Given the description of an element on the screen output the (x, y) to click on. 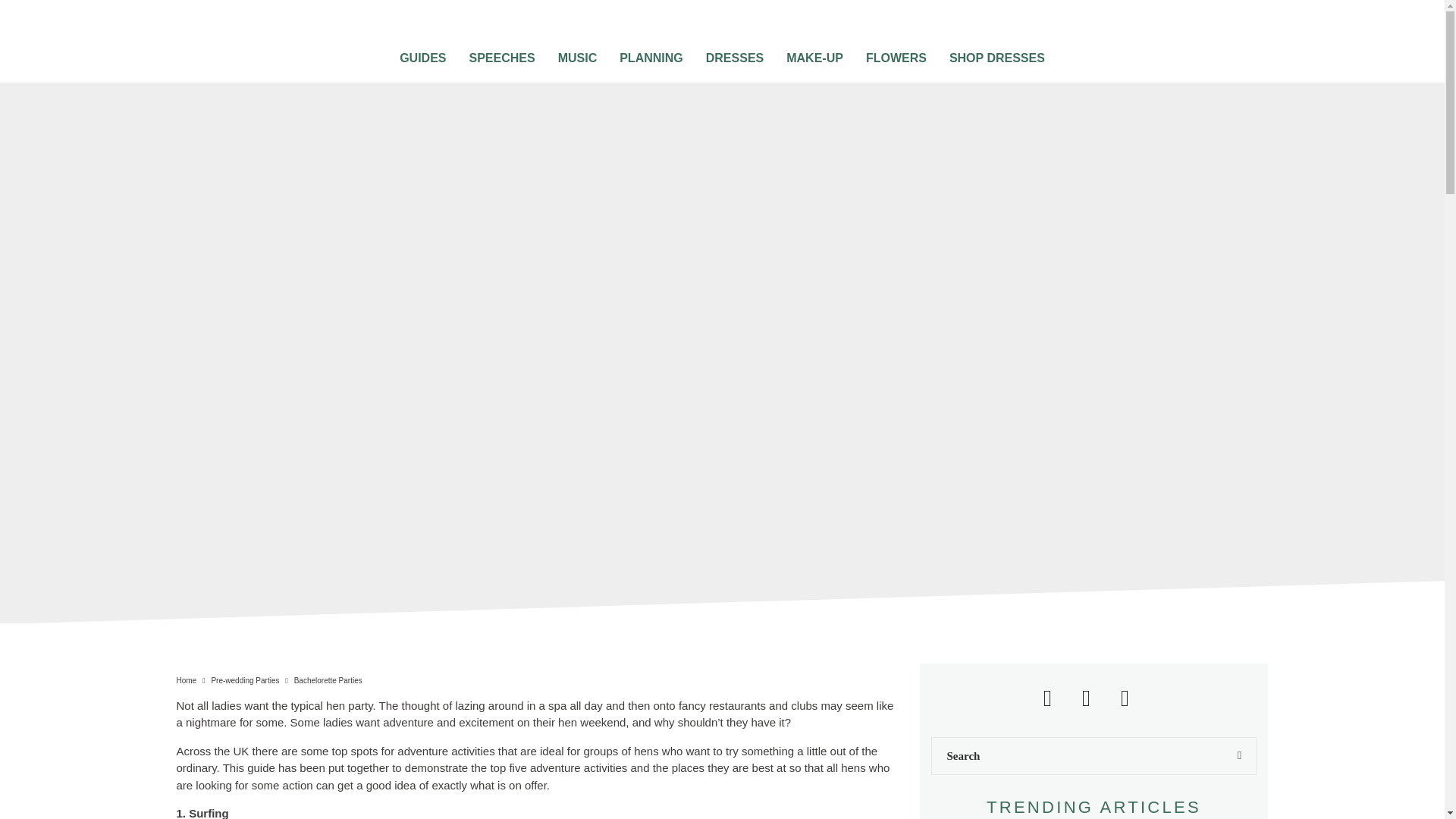
GUIDES (422, 52)
PLANNING (651, 52)
MUSIC (577, 52)
DRESSES (734, 52)
Wedding Planning (651, 52)
SPEECHES (501, 52)
